Given the description of an element on the screen output the (x, y) to click on. 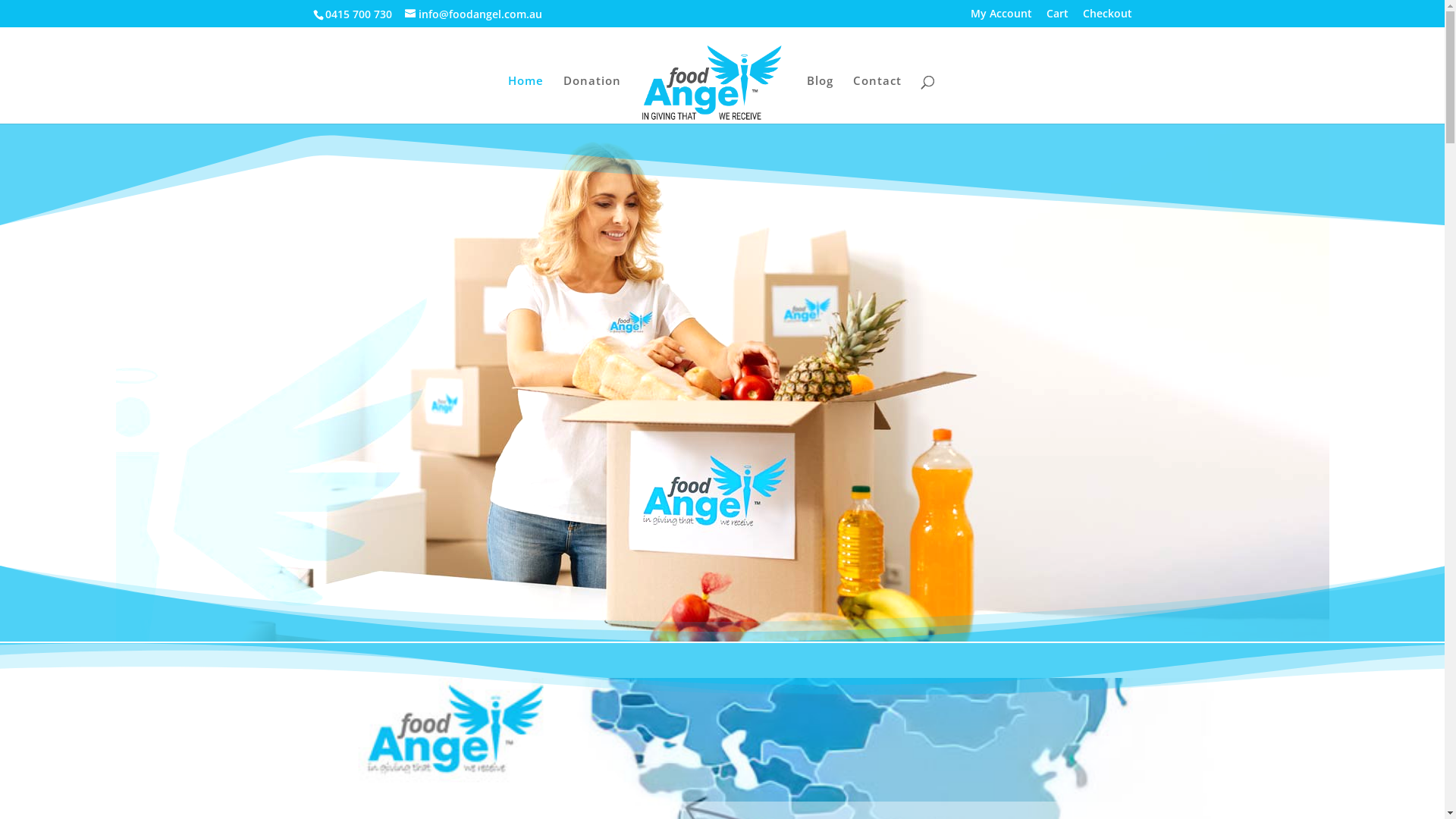
Cart Element type: text (1057, 16)
Home Element type: text (525, 99)
Blog Element type: text (819, 99)
Checkout Element type: text (1107, 16)
My Account Element type: text (1001, 16)
Donation Element type: text (592, 99)
Contact Element type: text (877, 99)
info@foodangel.com.au Element type: text (473, 13)
